Given the description of an element on the screen output the (x, y) to click on. 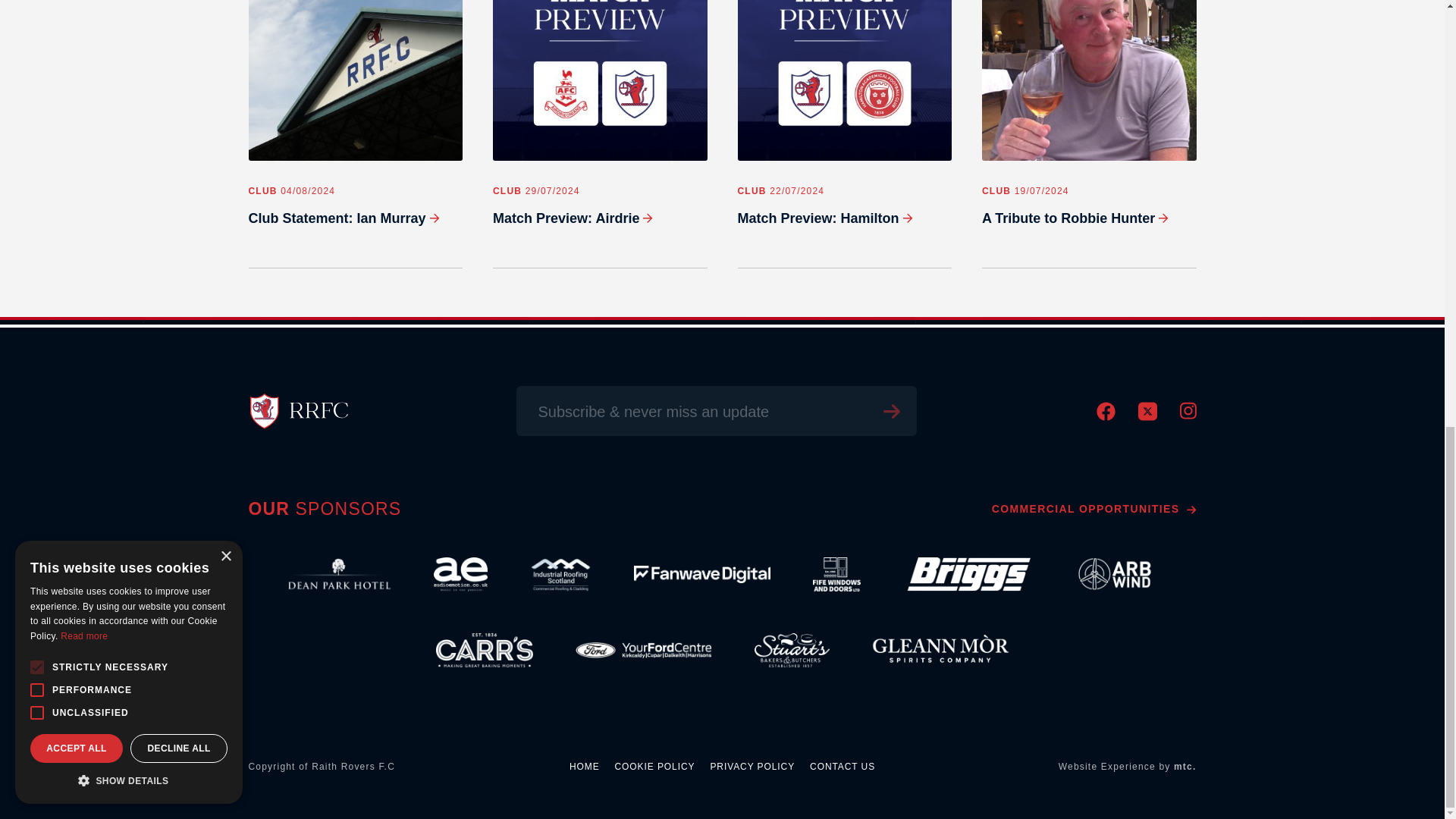
Industrial Roofing Scotland (560, 573)
Find us on Facebook (1105, 417)
Fanwave Digital (701, 573)
Commercial Opportunities (1093, 508)
ARB Wind (1114, 573)
Dean Park Hotel (339, 573)
Find us on Instagram (1187, 415)
Your Ford Centre (643, 649)
Carr's (484, 649)
Brigg's Marine (966, 573)
Find us on X (1146, 417)
